Given the description of an element on the screen output the (x, y) to click on. 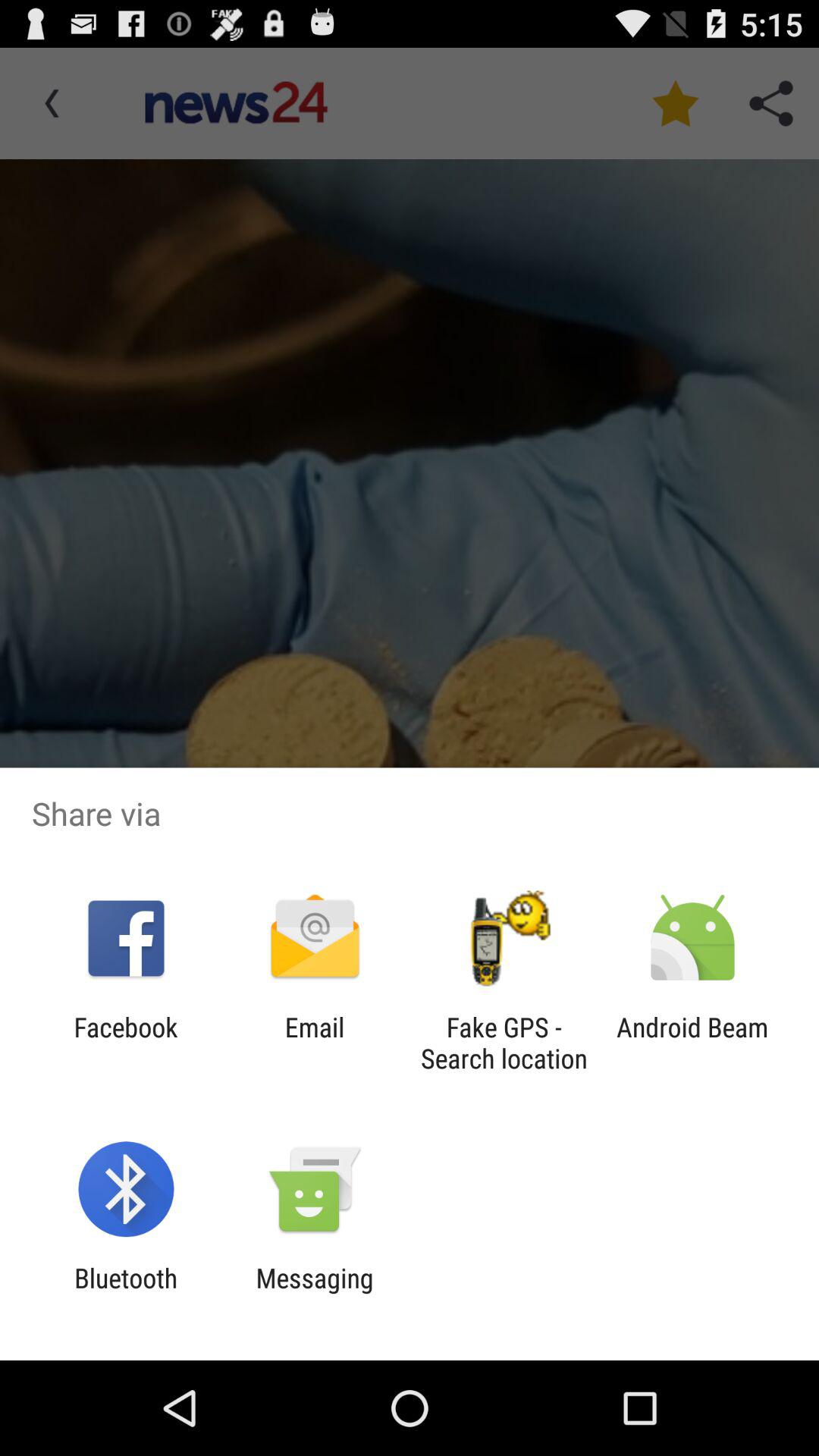
turn on item to the left of the messaging icon (125, 1293)
